Given the description of an element on the screen output the (x, y) to click on. 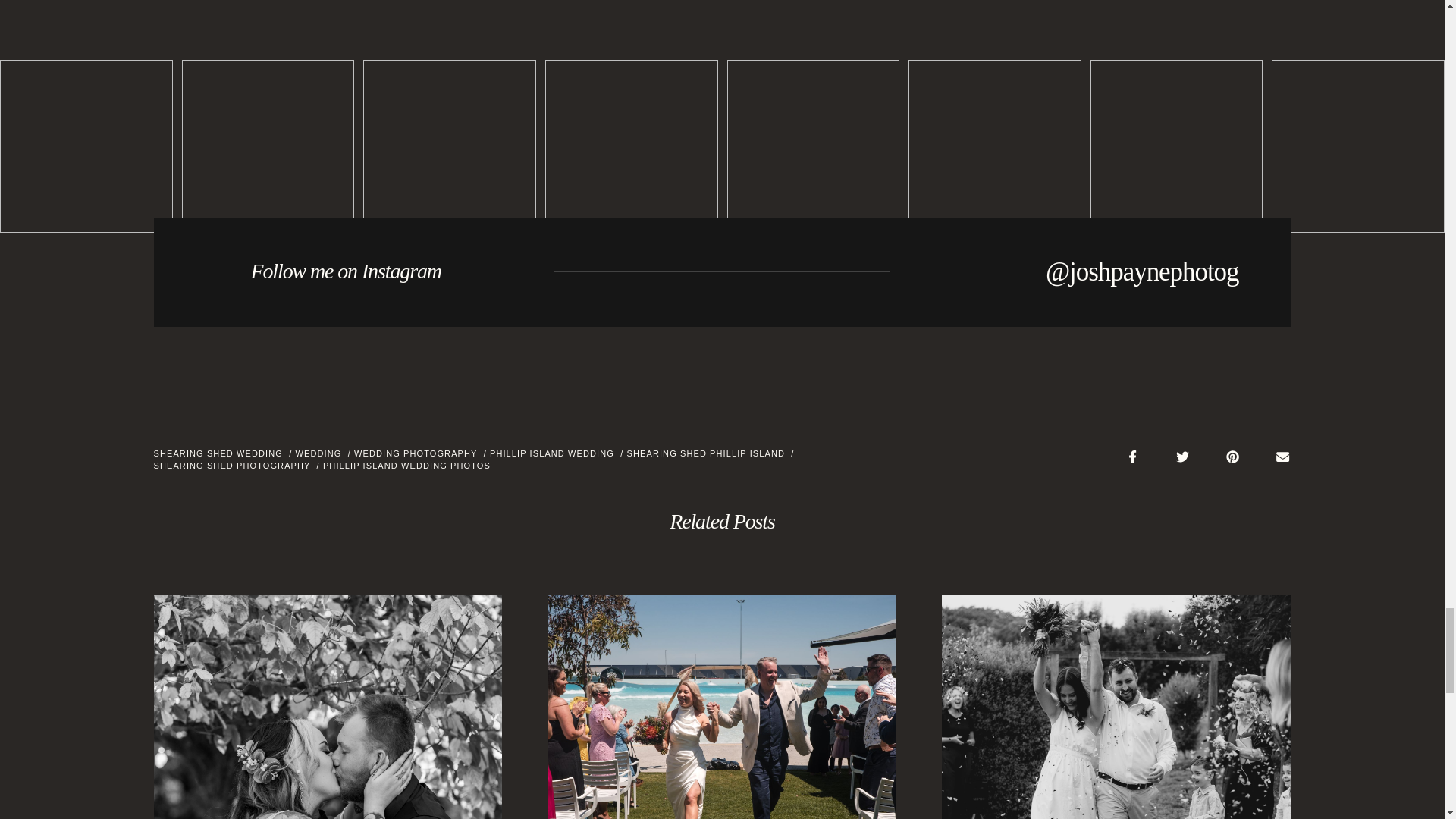
PHILLIP ISLAND WEDDING PHOTOS (406, 465)
